Given the description of an element on the screen output the (x, y) to click on. 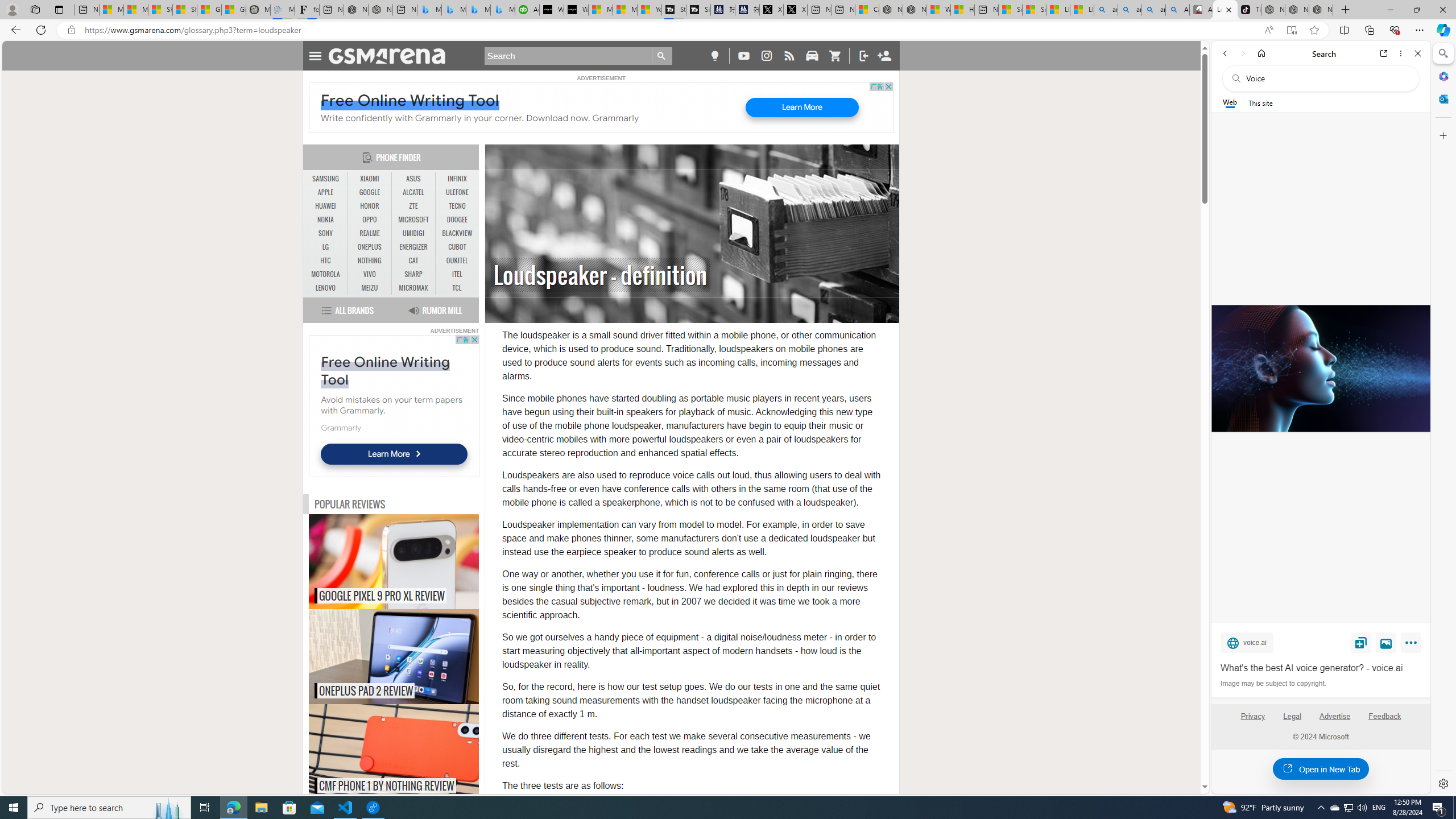
APPLE (325, 192)
OPPO (369, 219)
Free Online Writing Tool (384, 370)
ENERGIZER (413, 246)
BLACKVIEW (457, 233)
REALME (369, 233)
ITEL (457, 273)
TECNO (457, 205)
Amazon Echo Robot - Search Images (1176, 9)
Open in New Tab (1321, 768)
GOOGLE (369, 192)
NOTHING (369, 260)
